Given the description of an element on the screen output the (x, y) to click on. 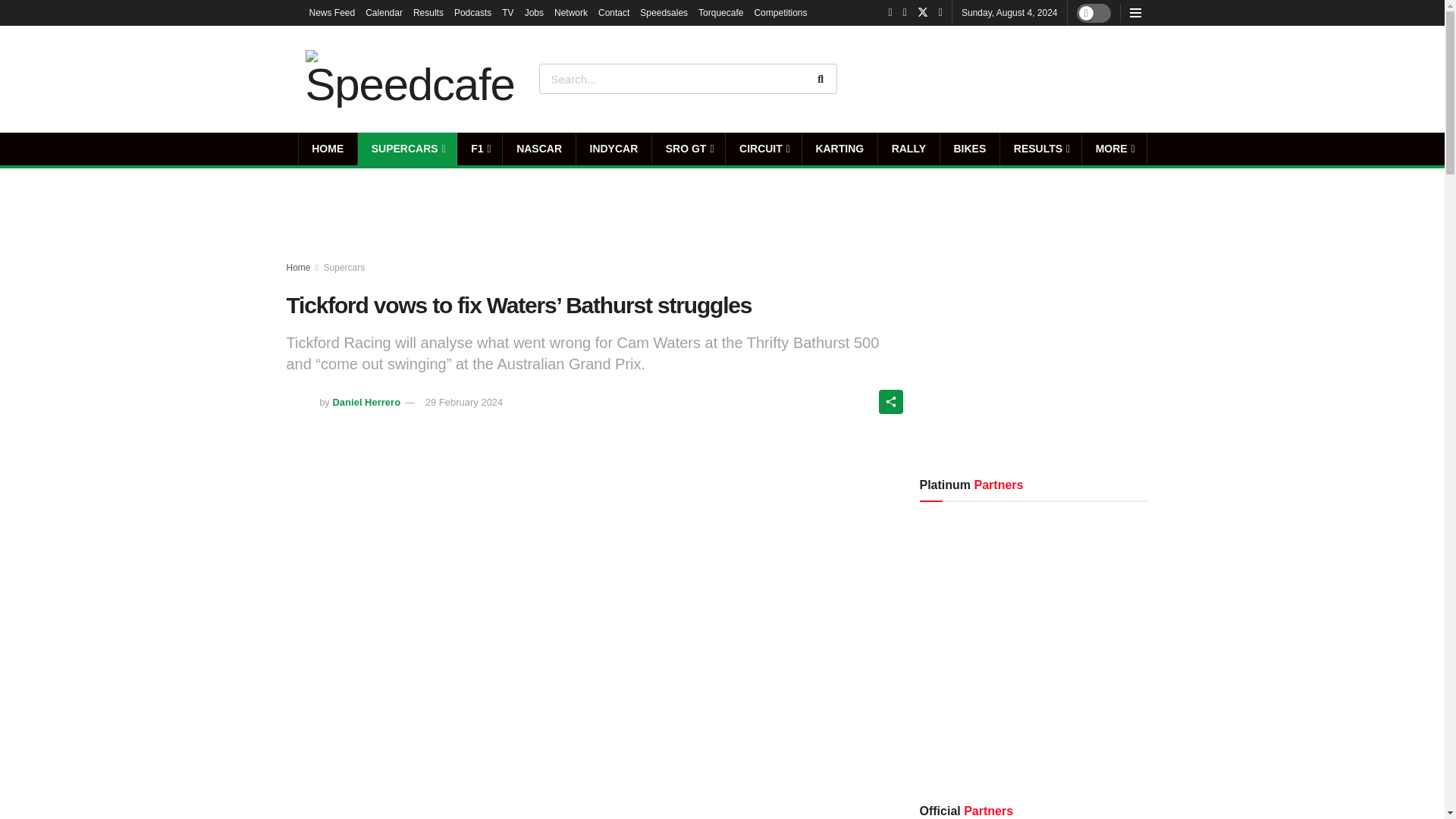
Network (571, 12)
News Feed (331, 12)
Competitions (780, 12)
Calendar (384, 12)
Speedsales (663, 12)
Results (428, 12)
Podcasts (473, 12)
HOME (327, 148)
Contact (613, 12)
SUPERCARS (407, 148)
Torquecafe (720, 12)
F1 (479, 148)
Truck Assist (1097, 78)
